Given the description of an element on the screen output the (x, y) to click on. 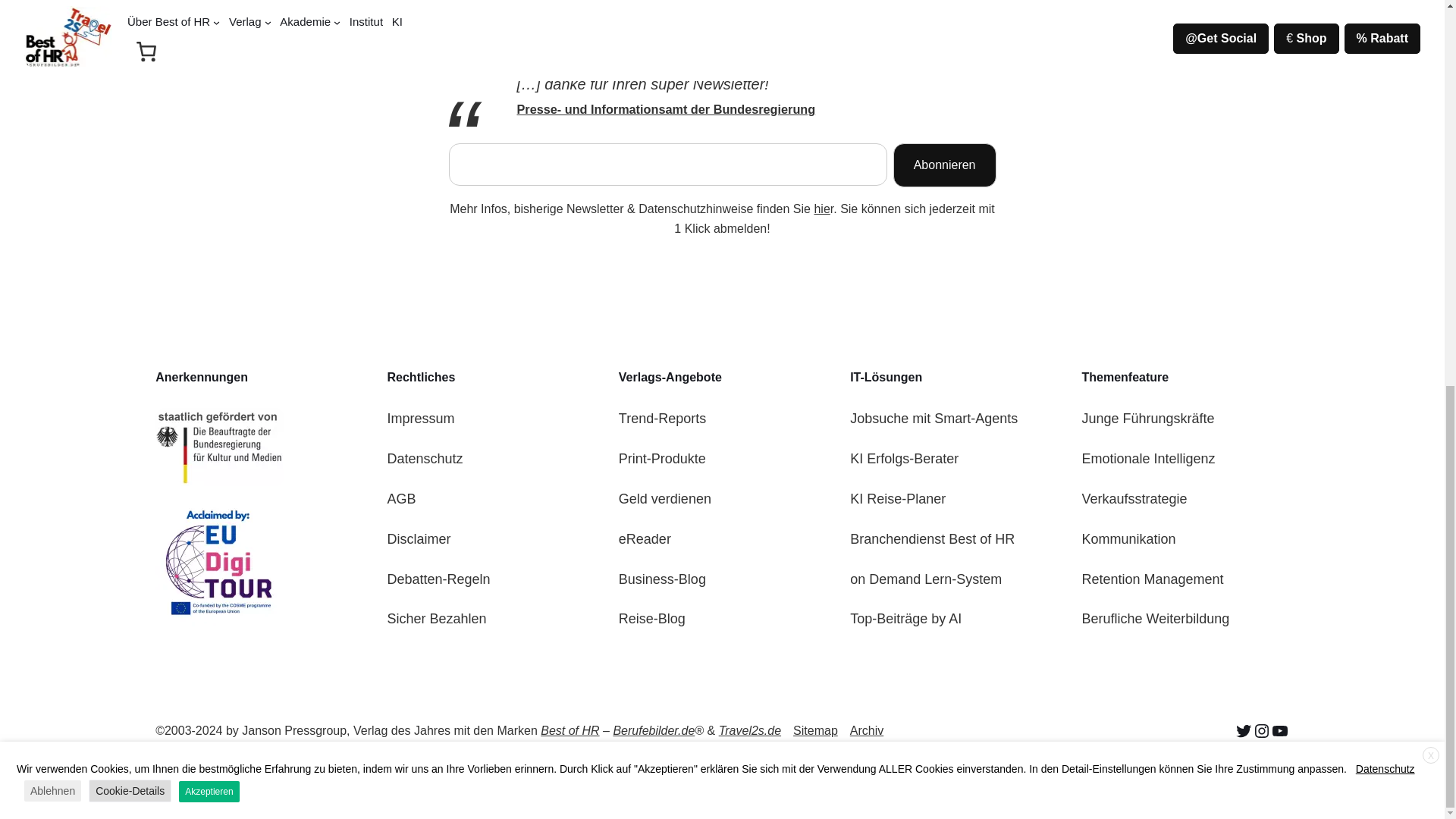
Abonnieren (944, 165)
Close and Accept (1430, 27)
hie (821, 208)
AGB (400, 498)
Presse- und Informationsamt der Bundesregierung (665, 109)
Datenschutz (425, 458)
Abonnieren (944, 165)
Impressum (420, 418)
